Given the description of an element on the screen output the (x, y) to click on. 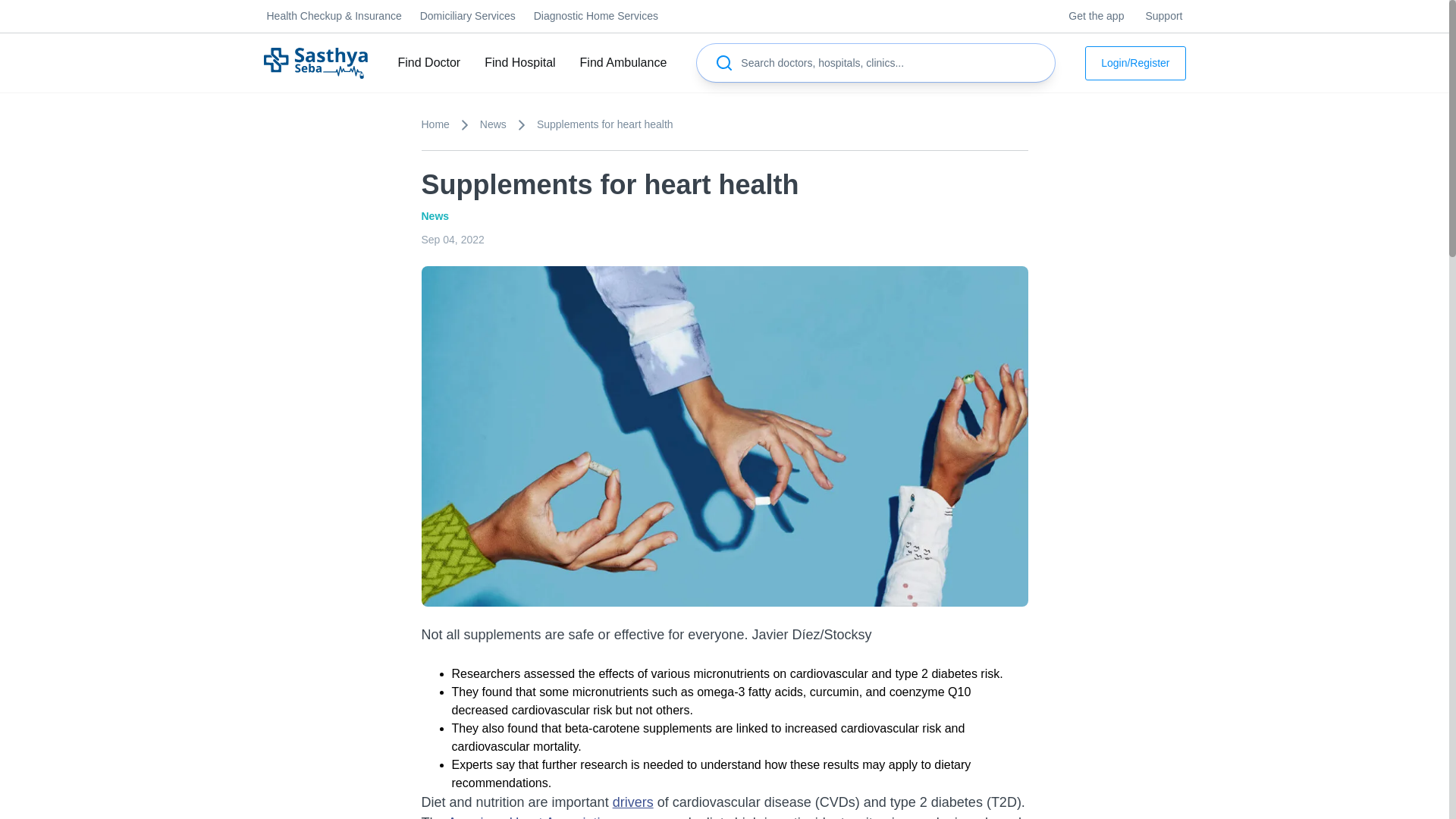
drivers (632, 801)
Support (1163, 16)
News (508, 124)
Find Doctor (428, 62)
American Heart Association (531, 816)
Home (315, 62)
Home (451, 124)
Get the app (1096, 16)
Find Ambulance (622, 62)
Domiciliary Services (467, 16)
Find Hospital (519, 62)
Diagnostic Home Services (596, 16)
